Given the description of an element on the screen output the (x, y) to click on. 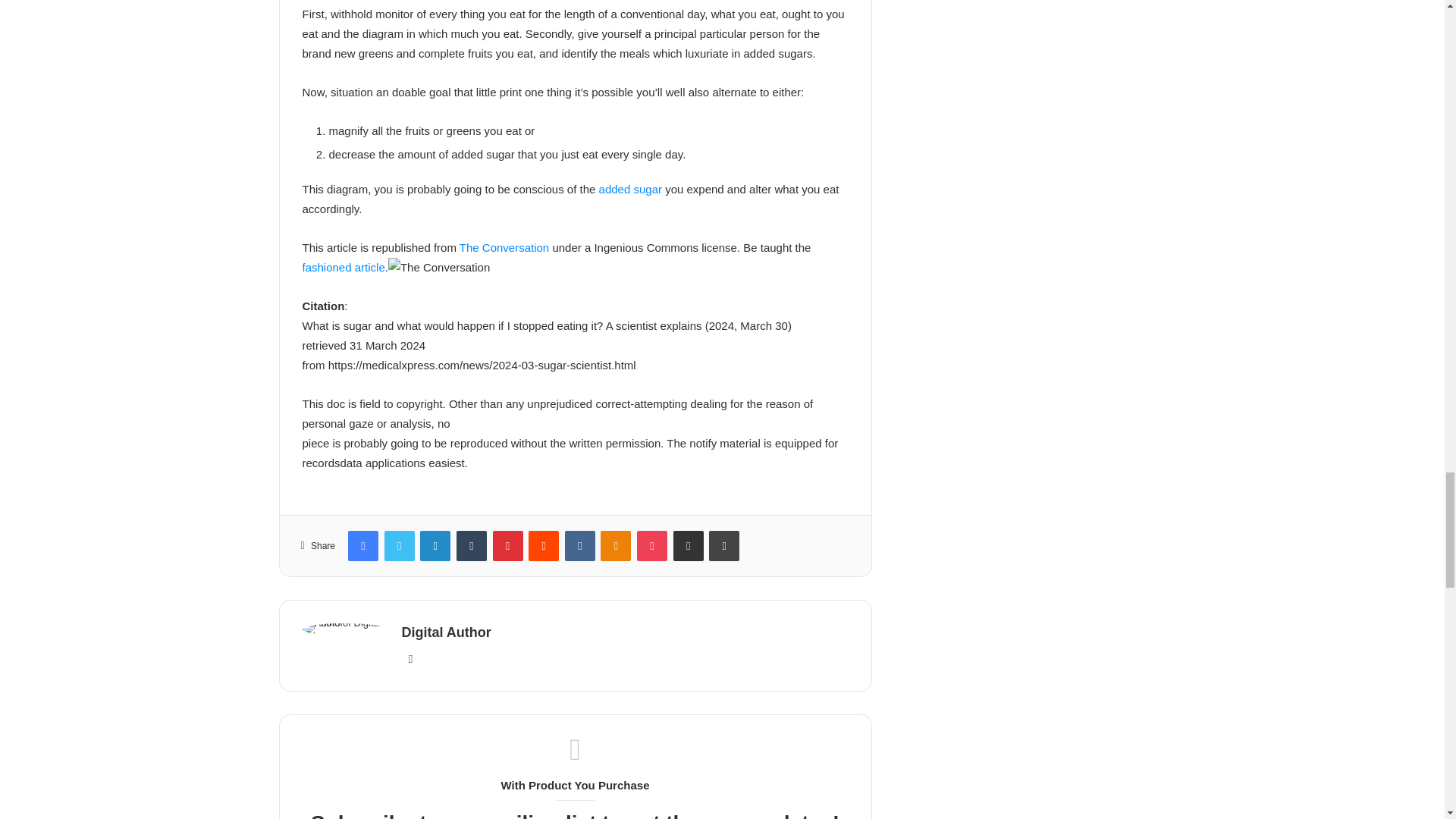
Reddit (543, 545)
Twitter (399, 545)
Facebook (362, 545)
Tumblr (471, 545)
Pinterest (507, 545)
LinkedIn (434, 545)
